Given the description of an element on the screen output the (x, y) to click on. 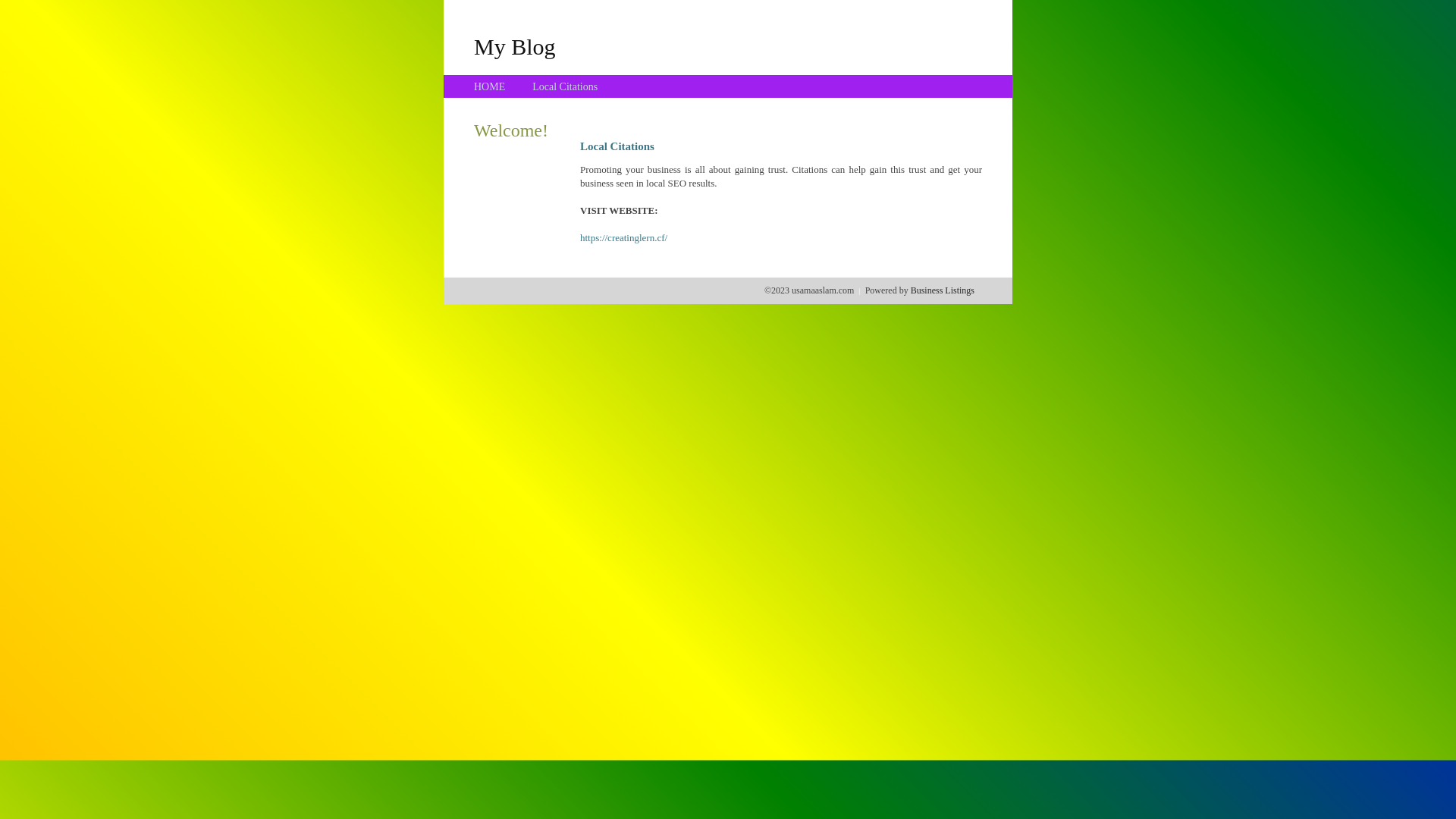
Local Citations Element type: text (564, 86)
Business Listings Element type: text (942, 290)
HOME Element type: text (489, 86)
https://creatinglern.cf/ Element type: text (623, 237)
My Blog Element type: text (514, 46)
